Given the description of an element on the screen output the (x, y) to click on. 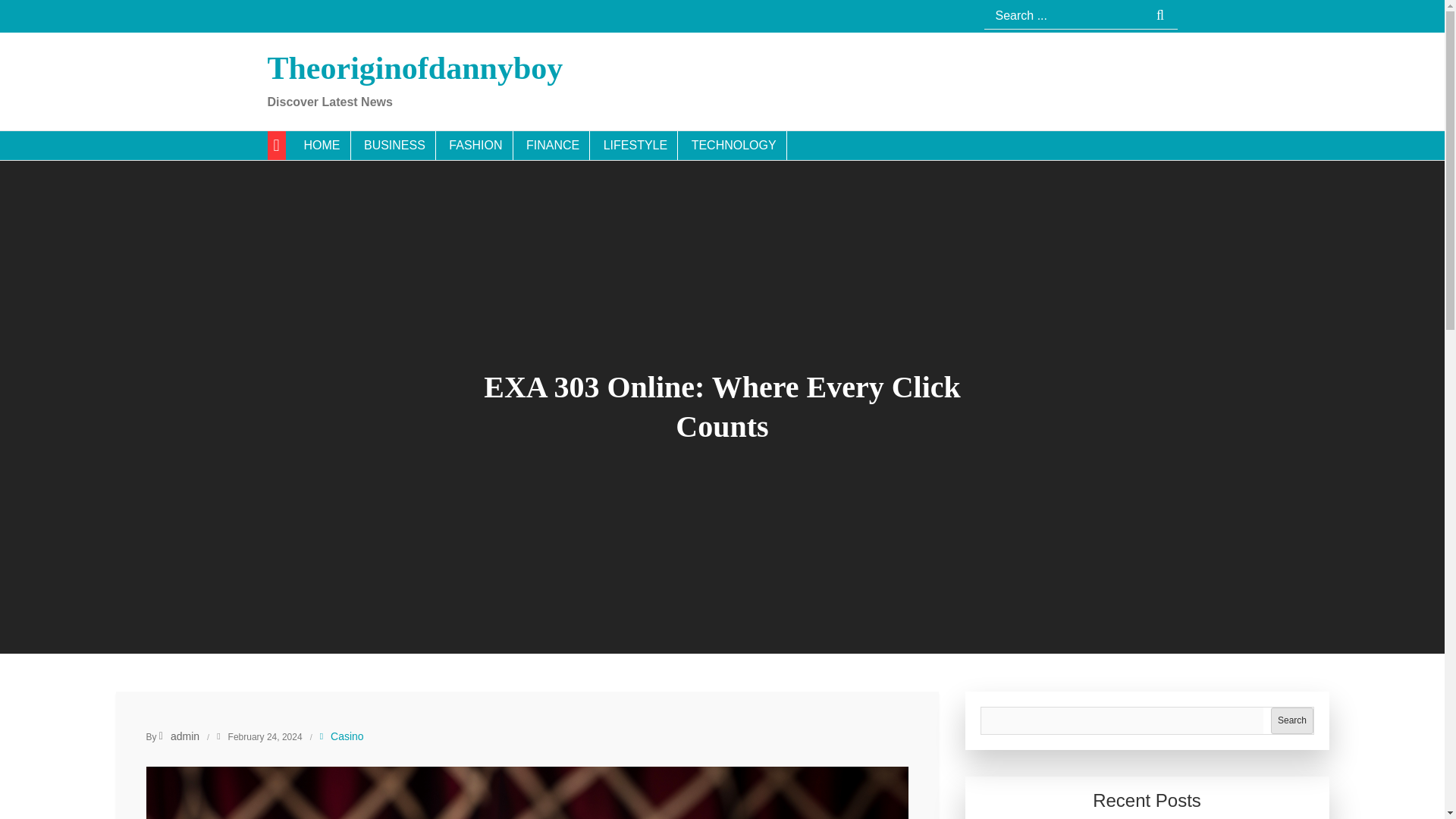
Search (1159, 16)
Search for: (1080, 16)
Casino (347, 735)
admin (178, 736)
Search (1292, 720)
FASHION (475, 145)
HOME (322, 145)
LIFESTYLE (636, 145)
BUSINESS (394, 145)
FINANCE (552, 145)
